Given the description of an element on the screen output the (x, y) to click on. 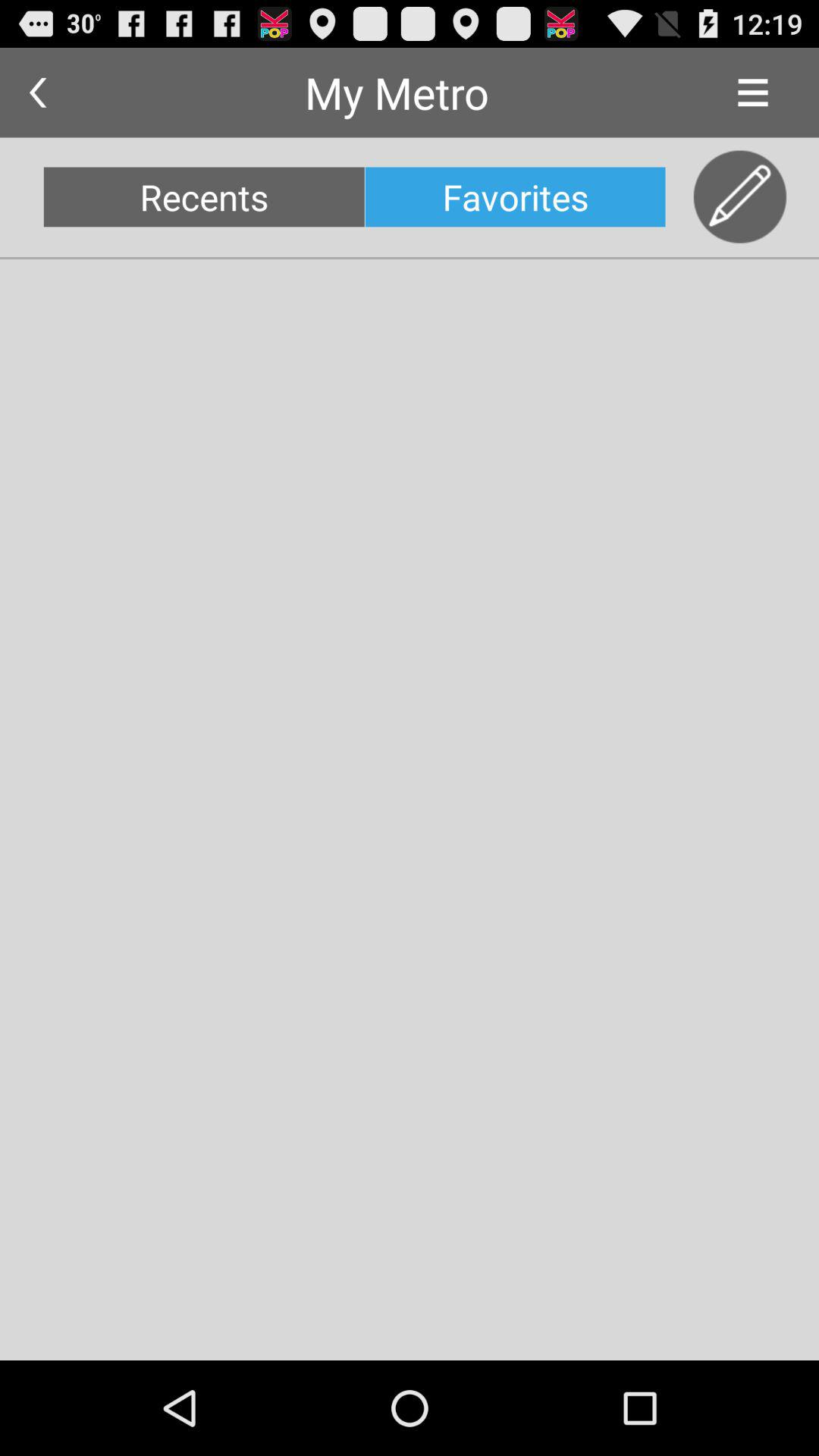
tap item to the right of the my metro app (752, 92)
